Given the description of an element on the screen output the (x, y) to click on. 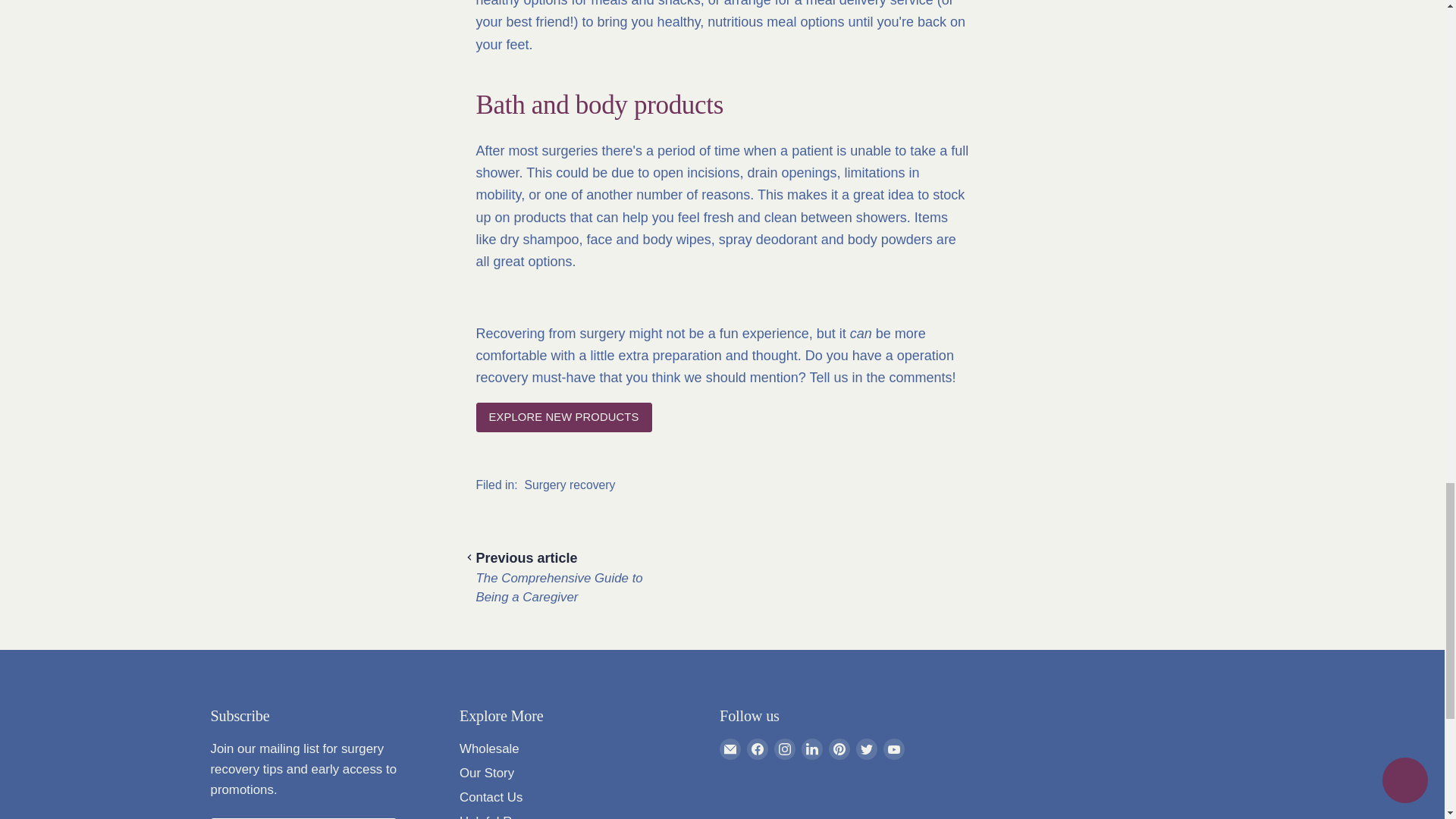
Twitter (866, 749)
Facebook (757, 749)
Email (730, 749)
Pinterest (839, 749)
LinkedIn (812, 749)
YouTube (893, 749)
Show articles tagged Surgery recovery (569, 484)
Instagram (784, 749)
